Given the description of an element on the screen output the (x, y) to click on. 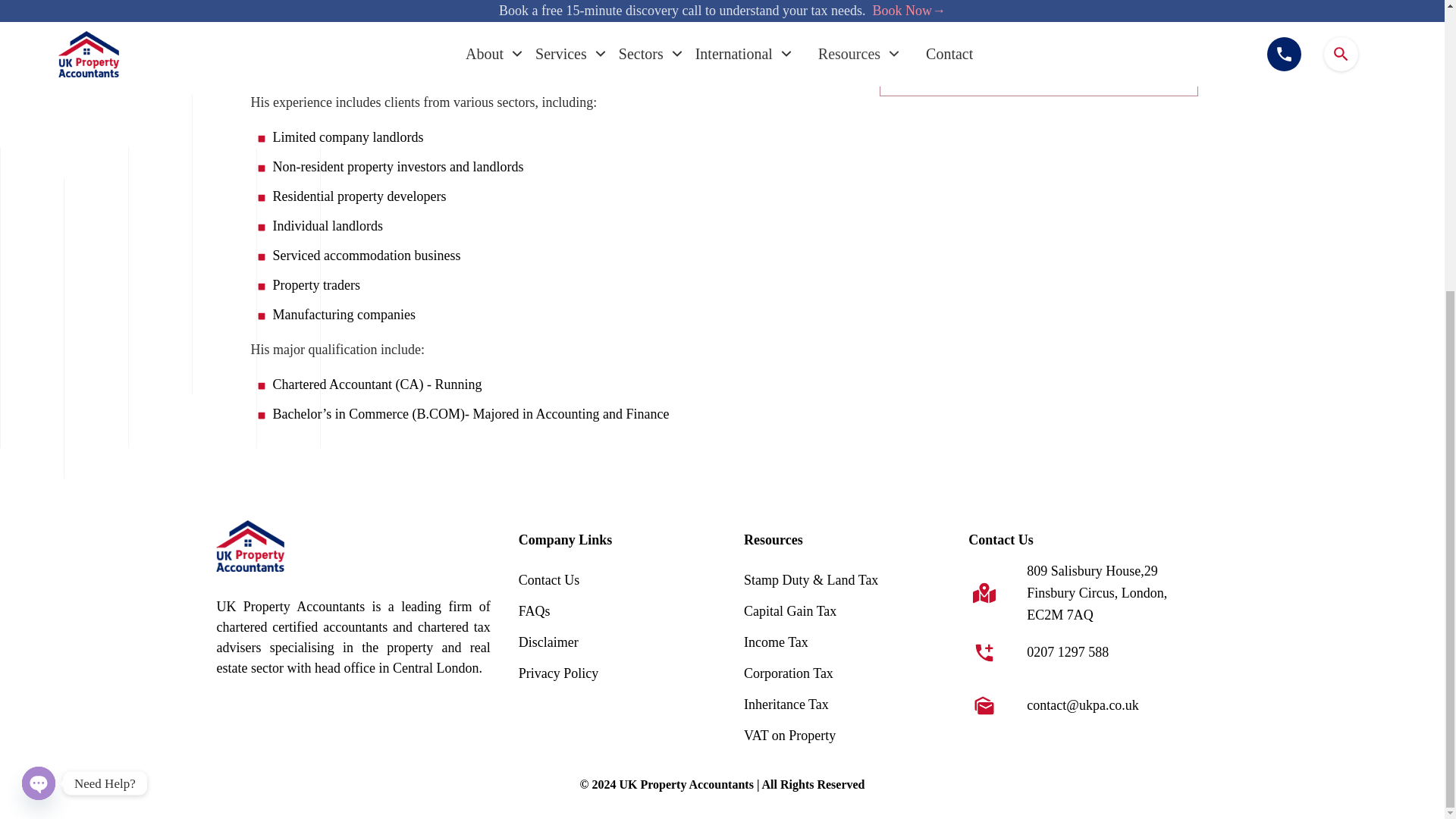
UKPA logo (249, 545)
